Given the description of an element on the screen output the (x, y) to click on. 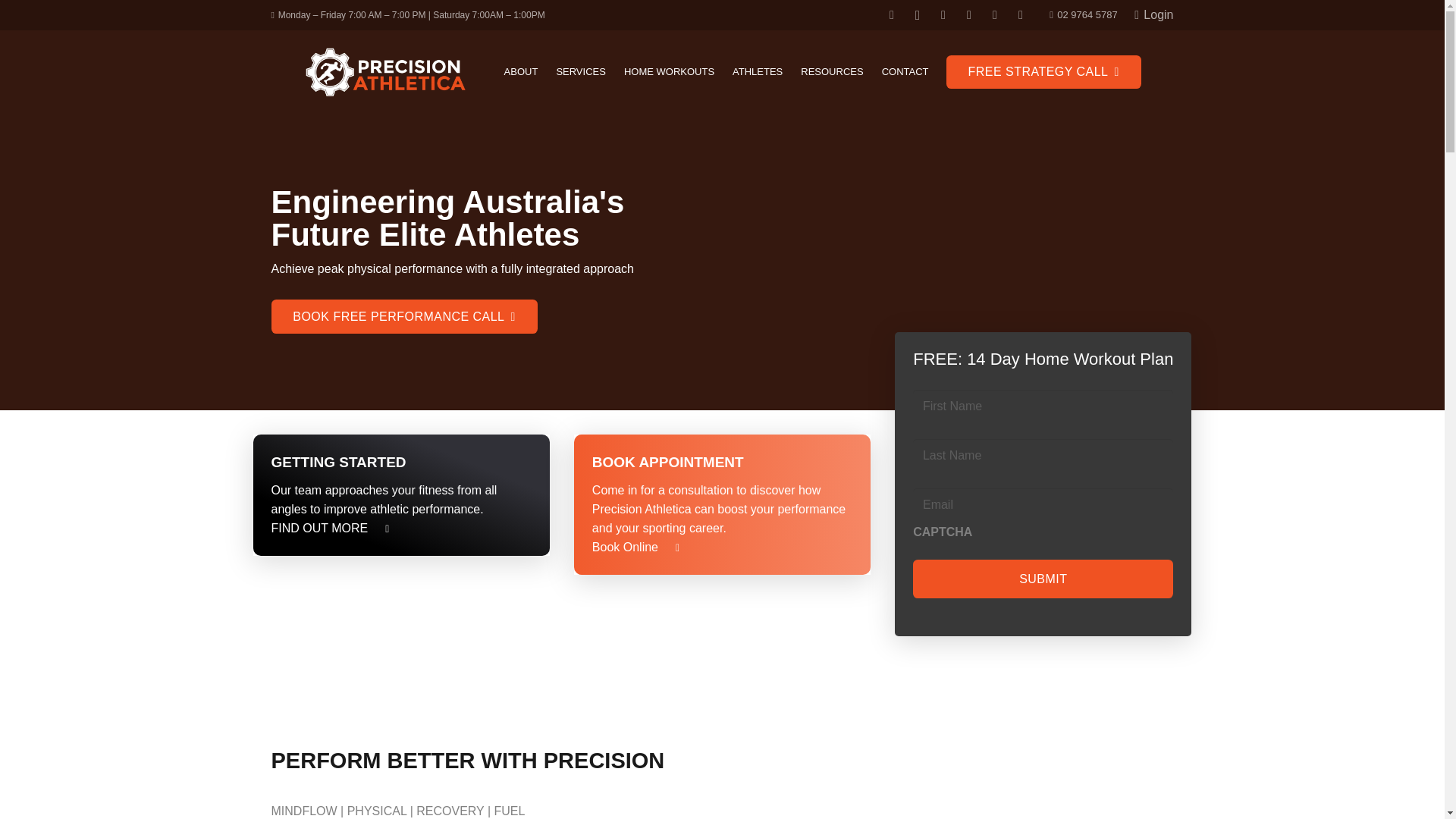
Get Started (721, 504)
YouTube (943, 15)
02 9764 5787 (1082, 14)
Apple (994, 15)
Membership (319, 527)
Facebook (891, 15)
Android (1020, 15)
Instagram (917, 15)
Submit (1042, 578)
RESOURCES (832, 71)
Get Started (401, 495)
LinkedIn (968, 15)
Login (1153, 14)
HOME WORKOUTS (668, 71)
Membership (380, 527)
